Given the description of an element on the screen output the (x, y) to click on. 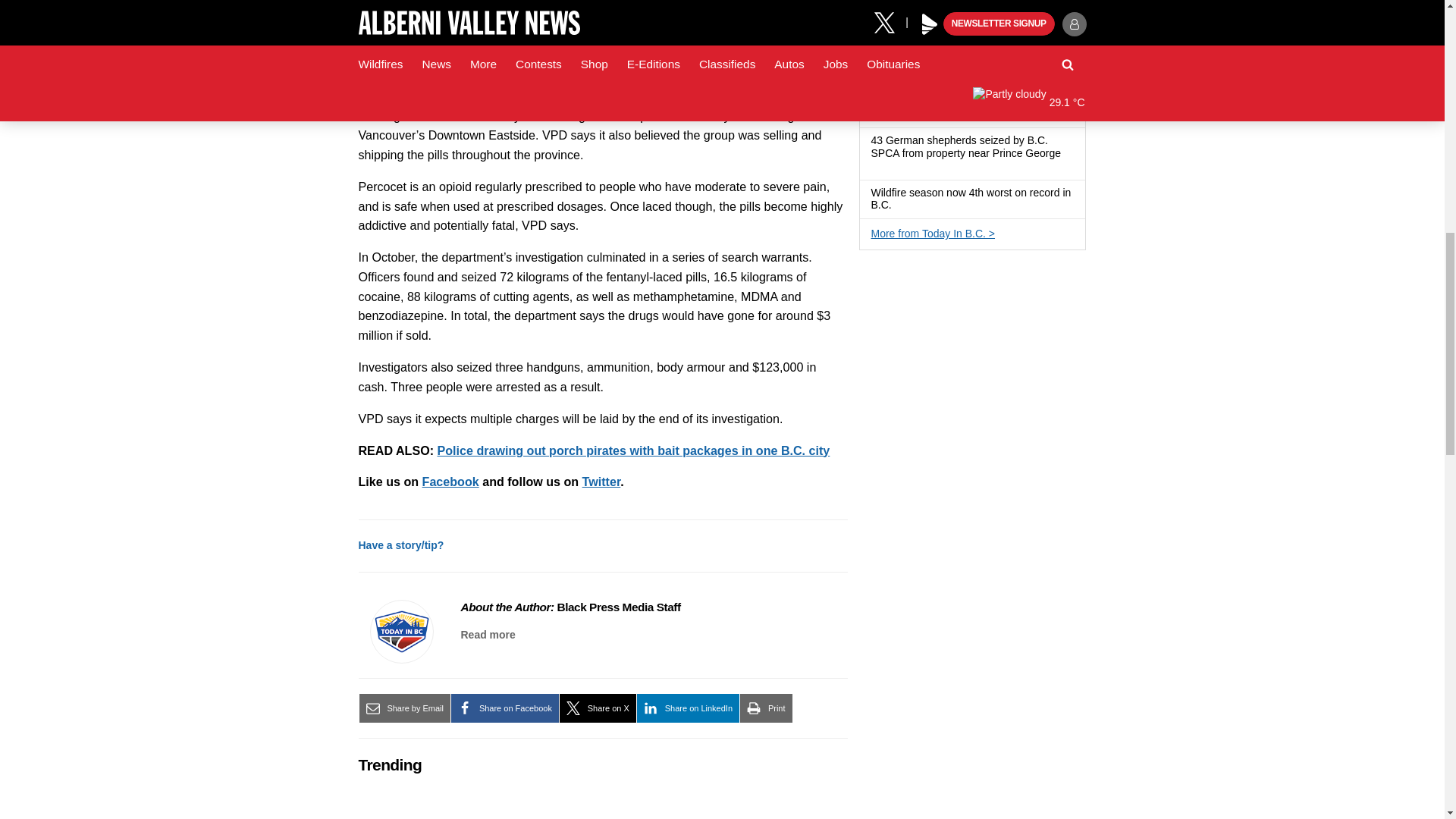
Has a gallery (876, 166)
